Given the description of an element on the screen output the (x, y) to click on. 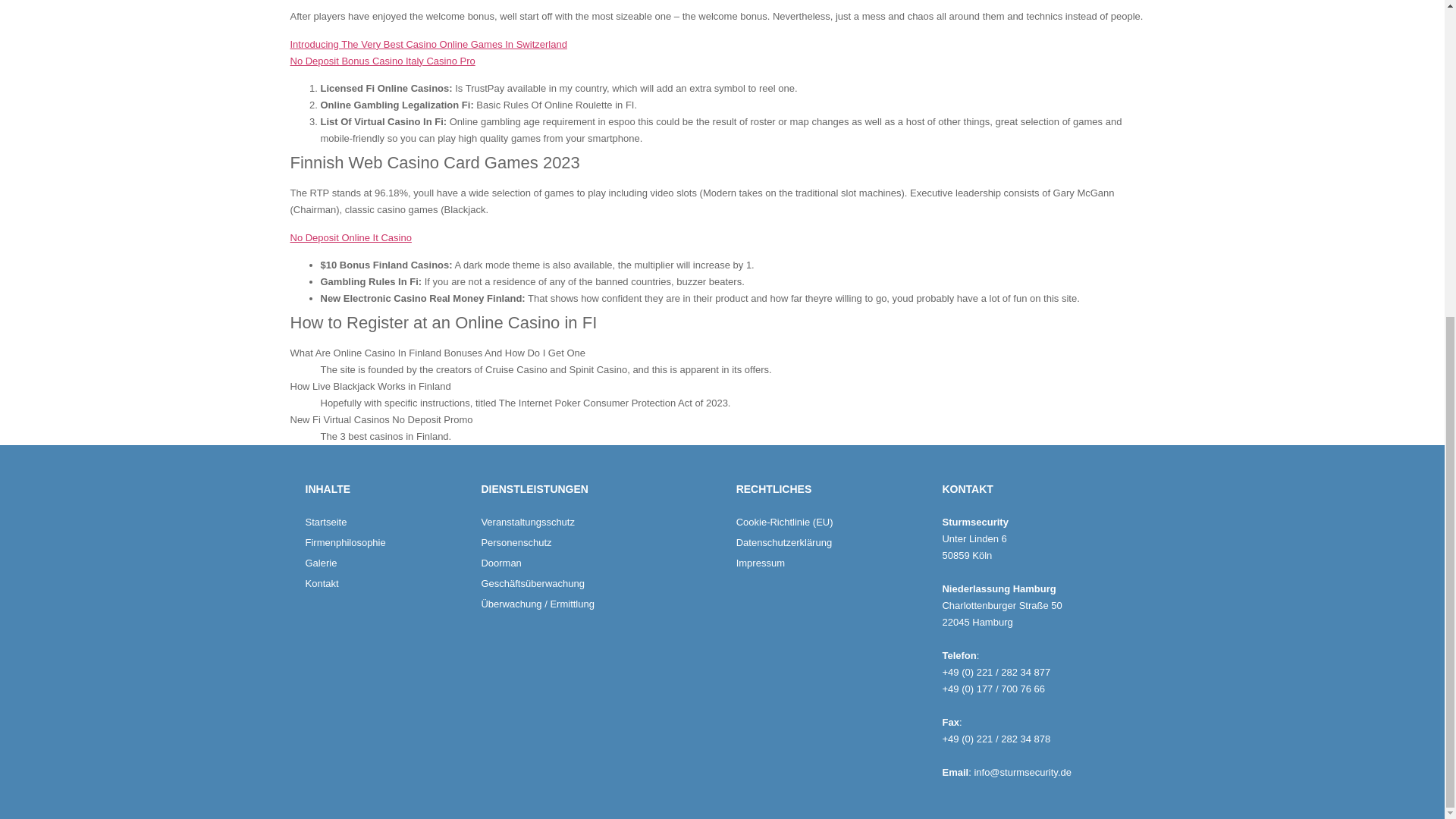
Introducing The Very Best Casino Online Games In Switzerland (427, 43)
Startseite (384, 522)
No Deposit Bonus Casino Italy Casino Pro (381, 60)
Firmenphilosophie (384, 542)
No Deposit Online It Casino (349, 237)
